Given the description of an element on the screen output the (x, y) to click on. 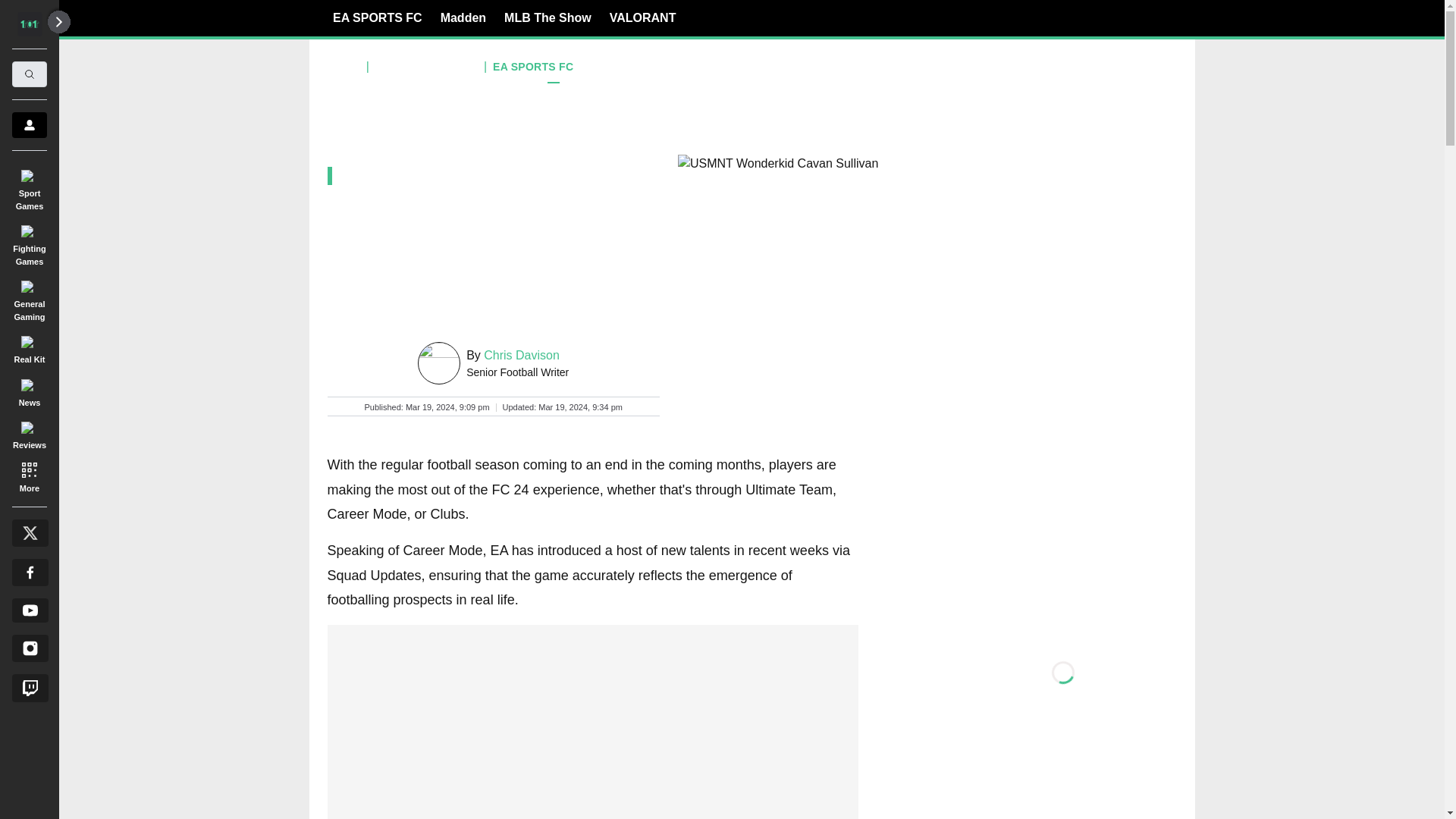
EA SPORTS FC (377, 18)
Reviews (28, 433)
News (28, 389)
Madden (463, 18)
MLB The Show (547, 18)
Real Kit (28, 347)
More (28, 476)
VALORANT (643, 18)
